Given the description of an element on the screen output the (x, y) to click on. 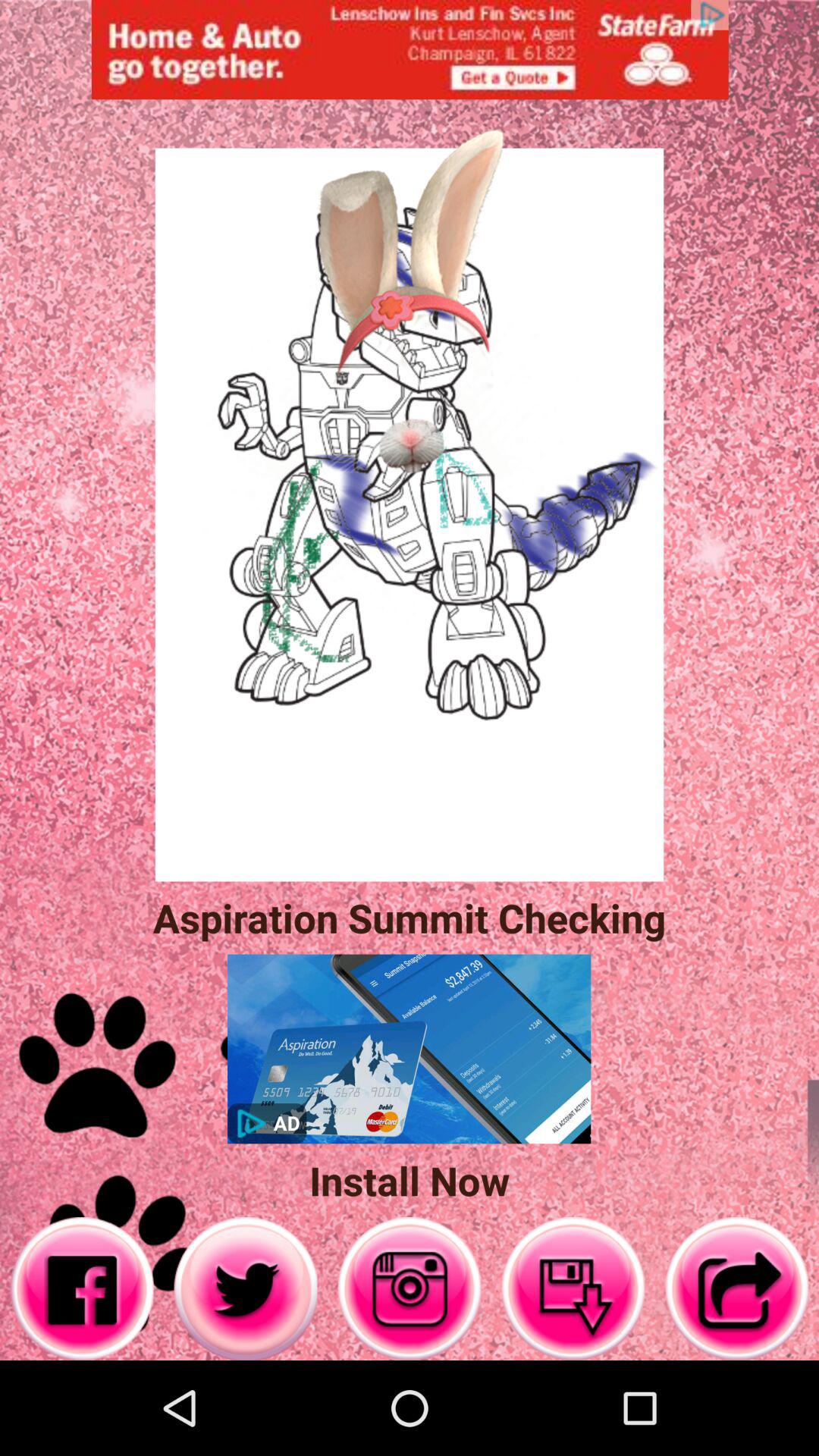
close the add (409, 49)
